Given the description of an element on the screen output the (x, y) to click on. 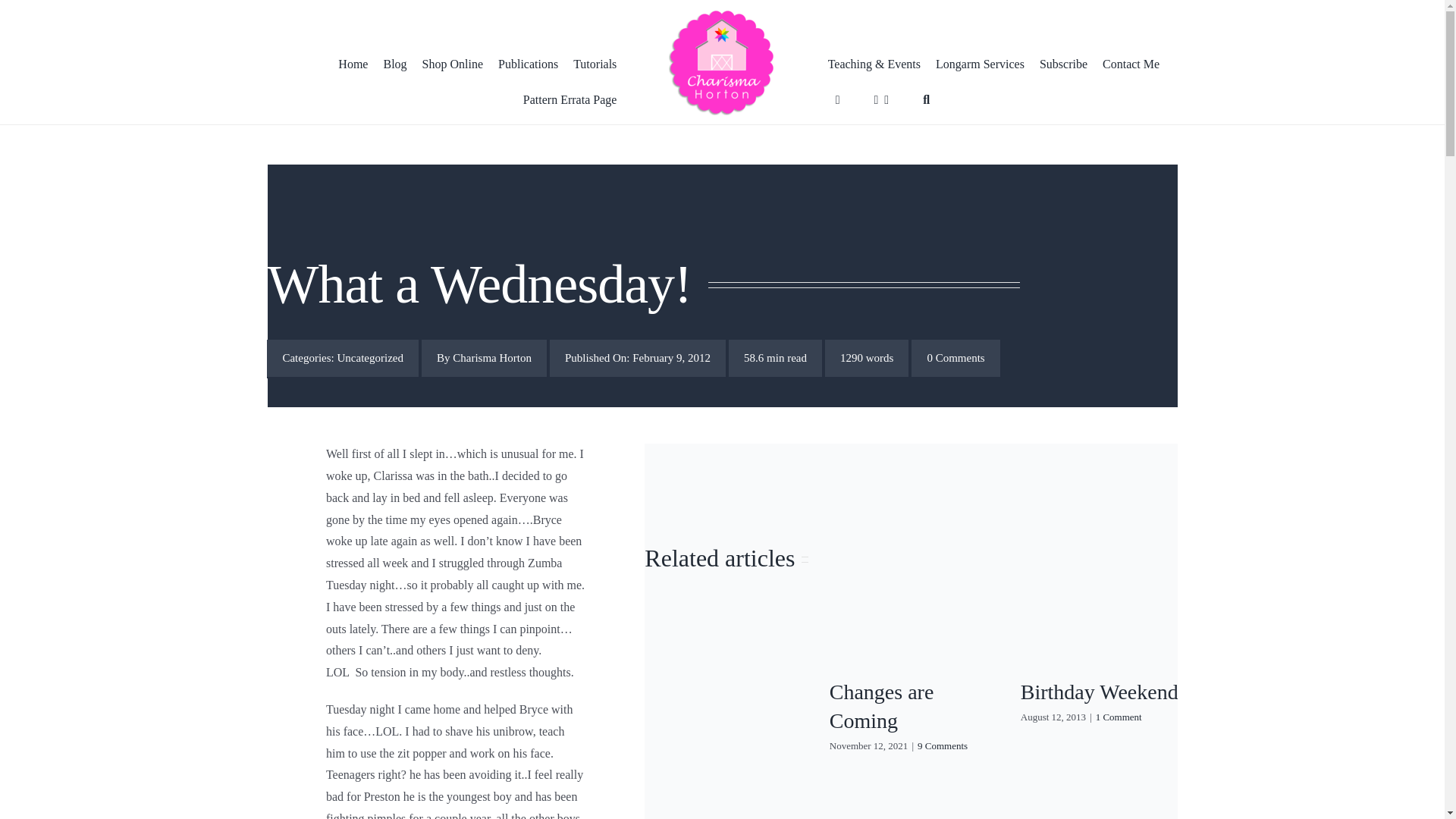
Birthday Weekend (1098, 691)
Tutorials (595, 65)
Changes are Coming (881, 706)
Home (352, 65)
Contact Me (1130, 65)
Blog (394, 65)
Longarm Services (980, 65)
Posts by Charisma Horton (491, 357)
Publications (528, 65)
Pattern Errata Page (566, 100)
Subscribe (1063, 65)
Log In (1015, 273)
Shop Online (452, 65)
